Given the description of an element on the screen output the (x, y) to click on. 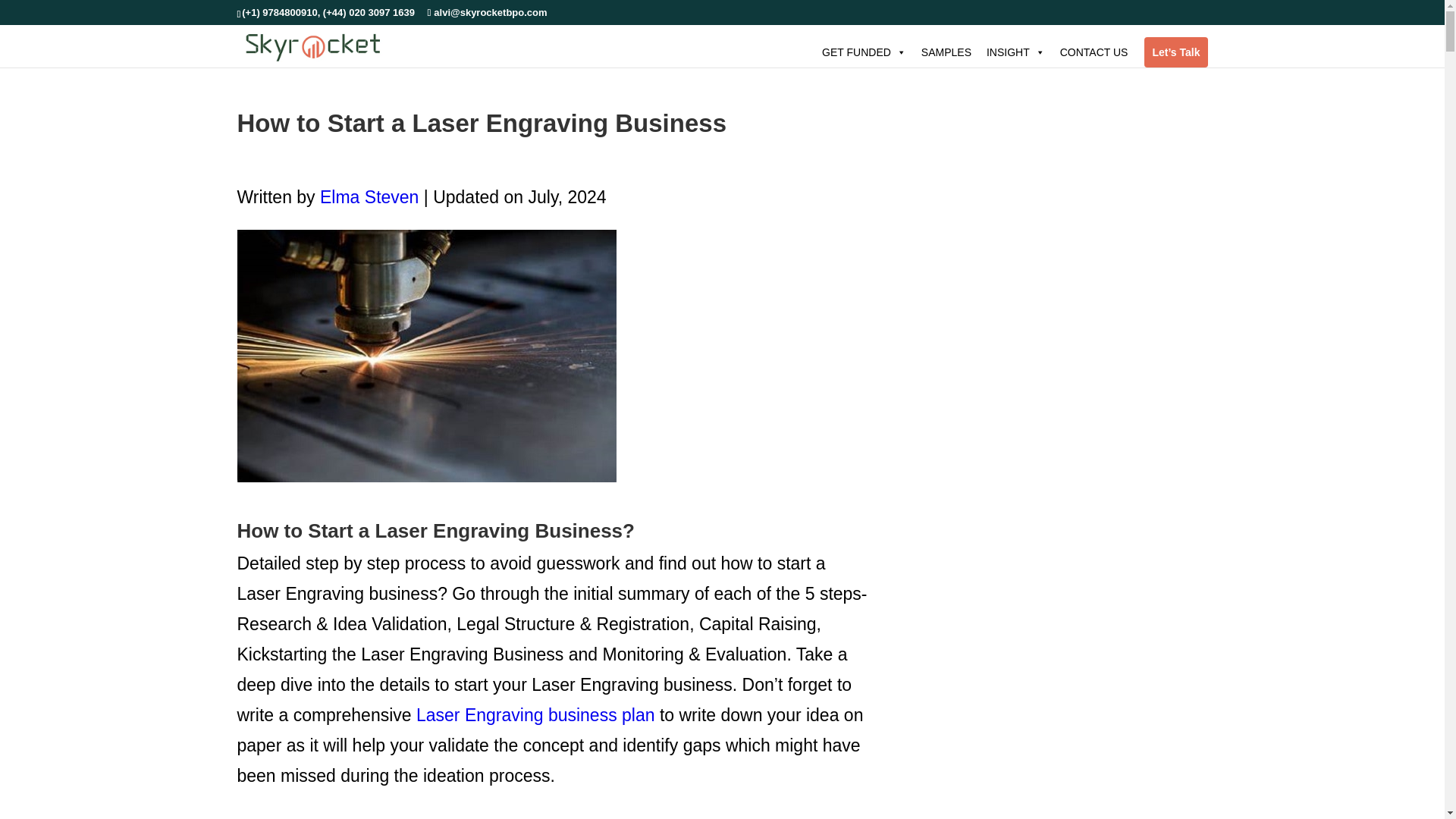
GET FUNDED (863, 51)
Elma Steven (369, 197)
Laser Engraving business plan (535, 714)
SAMPLES (946, 51)
INSIGHT (1015, 51)
How to Start a Laser Engraving Business 1 (425, 356)
CONTACT US (1093, 51)
